Given the description of an element on the screen output the (x, y) to click on. 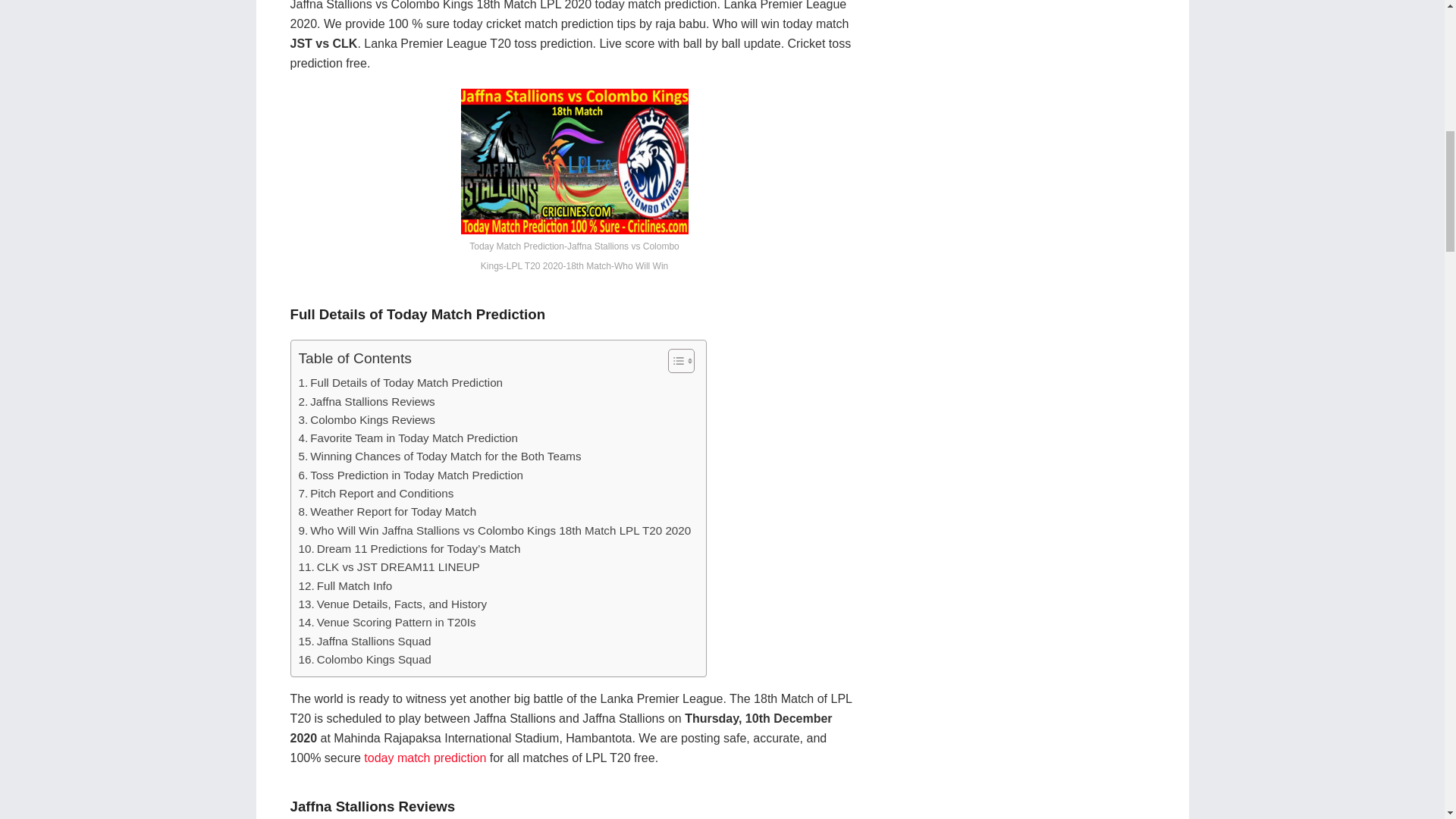
Favorite Team in Today Match Prediction (408, 438)
Toss Prediction in Today Match Prediction (411, 475)
Full Details of Today Match Prediction (400, 382)
Full Match Info (345, 586)
Winning Chances of Today Match for the Both Teams (439, 456)
Weather Report for Today Match (387, 511)
CLK vs JST DREAM11 LINEUP (389, 566)
Pitch Report and Conditions (376, 493)
Jaffna Stallions Reviews (366, 402)
Colombo Kings Reviews (366, 420)
Venue Details, Facts, and History (392, 604)
